Given the description of an element on the screen output the (x, y) to click on. 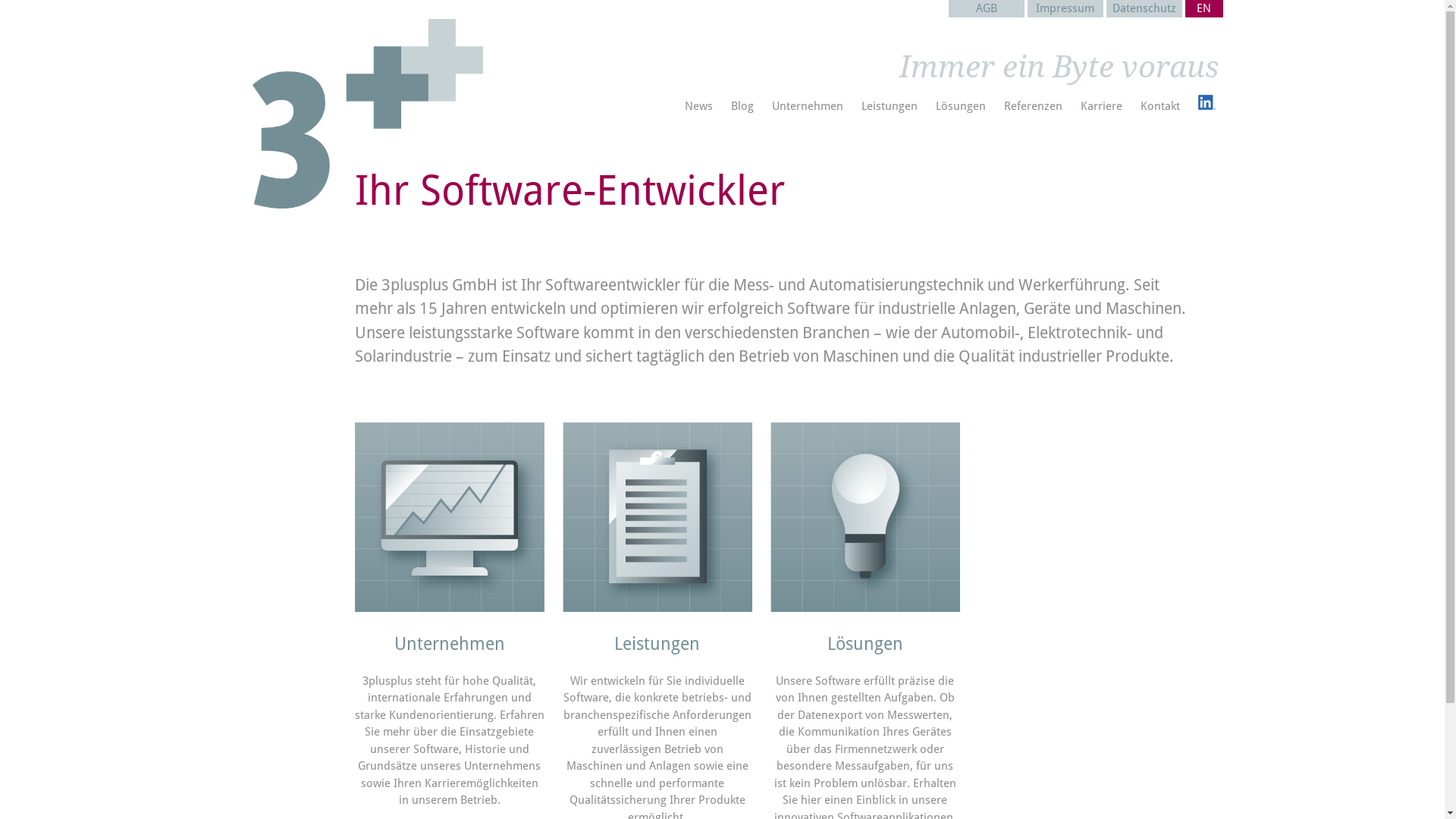
Unternehmen Element type: text (807, 105)
Karriere Element type: text (1100, 105)
AGB Element type: text (985, 8)
Referenzen Element type: text (1033, 105)
Leistungen Element type: text (889, 105)
LinkedIn Element type: hover (1206, 105)
News Element type: text (698, 105)
Blog Element type: text (742, 105)
EN Element type: text (1203, 8)
Impressum Element type: text (1064, 8)
Kontakt Element type: text (1159, 105)
Datenschutz Element type: text (1143, 8)
